Given the description of an element on the screen output the (x, y) to click on. 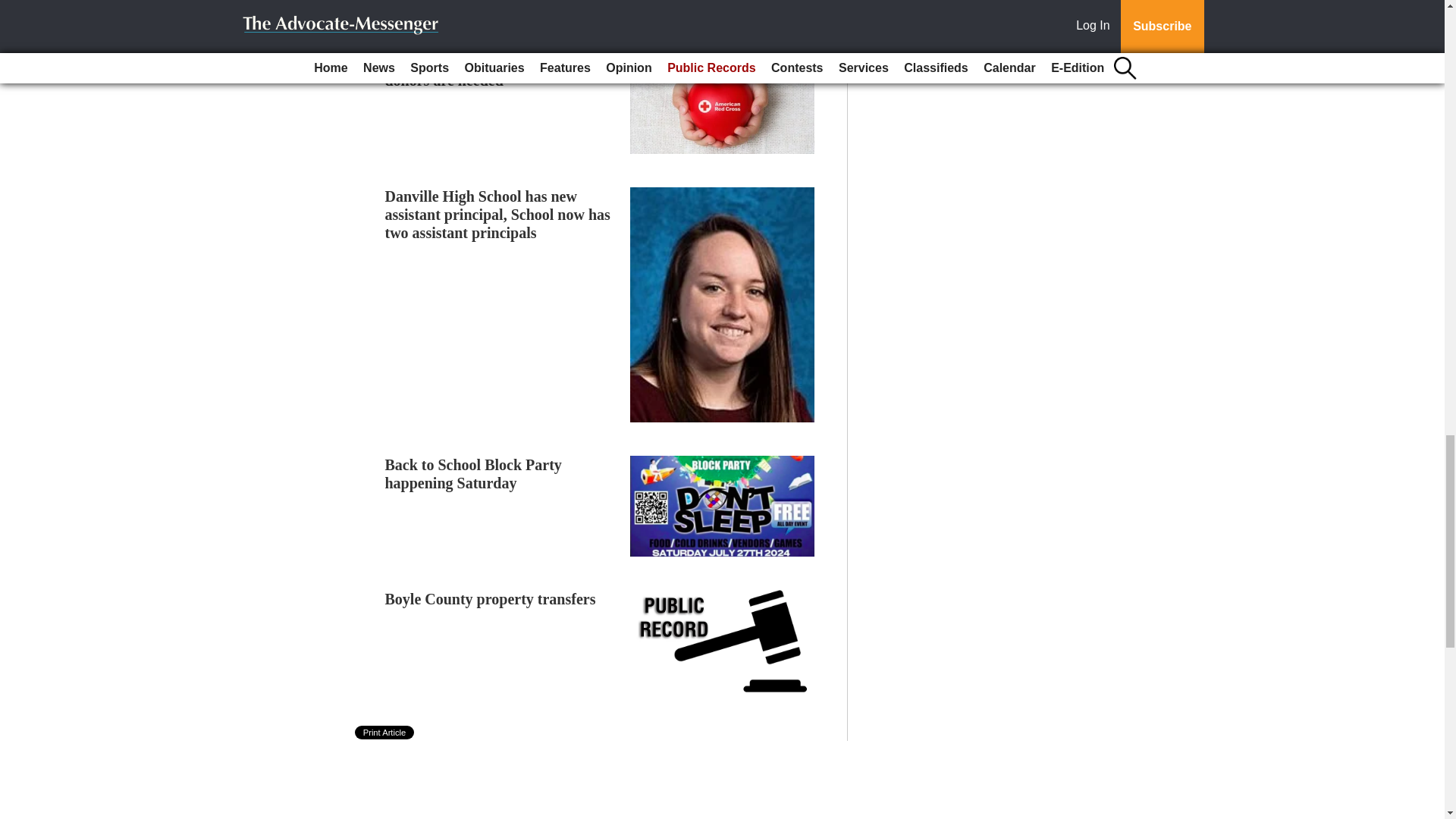
Back to School Block Party happening Saturday (473, 473)
Print Article (384, 732)
Back to School Block Party happening Saturday (473, 473)
American Red Cross says blood donors are needed (488, 71)
American Red Cross says blood donors are needed (488, 71)
Boyle County property transfers (490, 598)
Boyle County property transfers (490, 598)
